Given the description of an element on the screen output the (x, y) to click on. 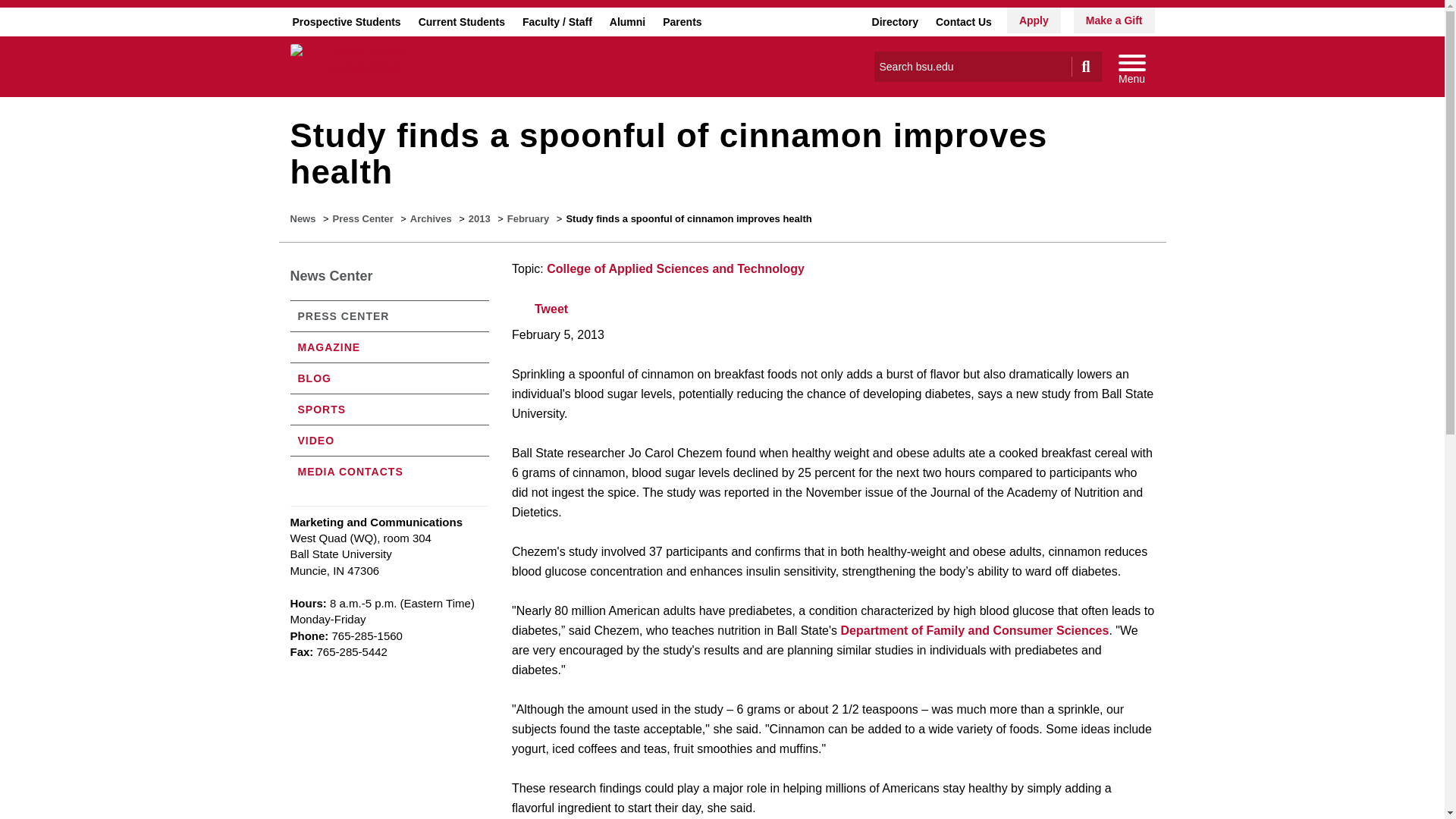
Current Students (461, 21)
Alumni (627, 21)
Resources and Services for Faculty and Staff (556, 21)
Toggle navigation (1131, 66)
Services and Events for Alumni (627, 21)
Parents (682, 21)
Resources and Services for Current Students (461, 21)
Ball State phone numbers, email and mailing addresses (963, 21)
Search for Employees, Students, Departments, and More (894, 21)
Apply (1034, 20)
